Given the description of an element on the screen output the (x, y) to click on. 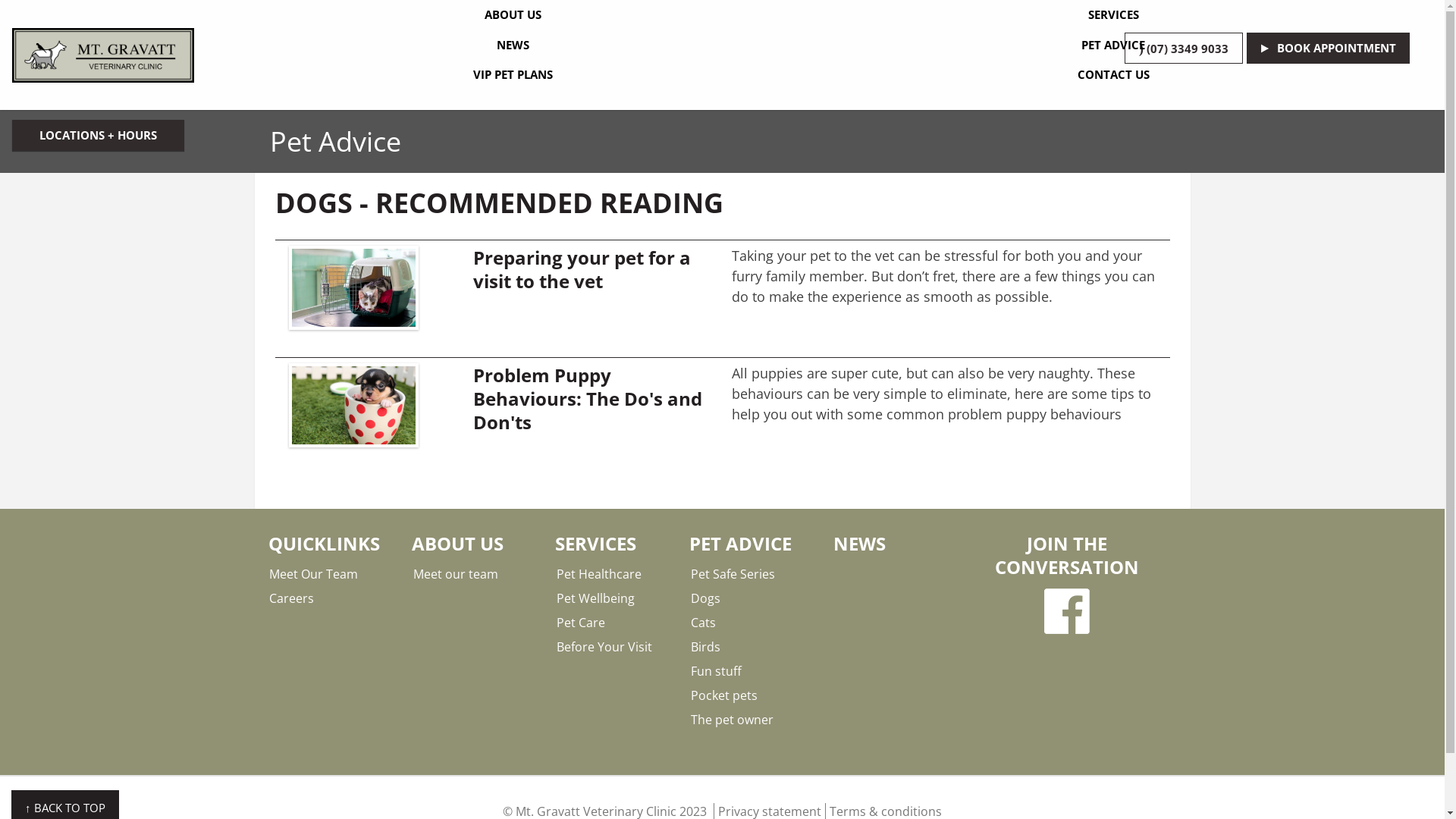
Cats Element type: text (751, 622)
SERVICES Element type: text (595, 542)
Before Your Visit Element type: text (617, 646)
Fun stuff Element type: text (751, 670)
CONTACT US Element type: text (1112, 74)
Pet Care Element type: text (617, 622)
Pet Advice Element type: text (335, 141)
Home Element type: hover (103, 55)
Pocket pets Element type: text (751, 695)
PET ADVICE Element type: text (740, 542)
VIP PET PLANS Element type: text (513, 74)
BOOK APPOINTMENT Element type: text (1327, 47)
SERVICES Element type: text (1112, 15)
Meet Our Team Element type: text (330, 573)
NEWS Element type: text (513, 45)
Pet Safe Series Element type: text (751, 573)
PET ADVICE Element type: text (1112, 45)
Meet our team Element type: text (474, 573)
Dogs Element type: text (751, 598)
ABOUT US Element type: text (457, 542)
The pet owner Element type: text (751, 719)
Birds Element type: text (751, 646)
  Element type: text (1066, 610)
Facebook Element type: hover (1066, 610)
NEWS Element type: text (859, 542)
ABOUT US Element type: text (513, 15)
Pet Healthcare Element type: text (617, 573)
(07) 3349 9033 Element type: text (1183, 47)
LOCATIONS + HOURS Element type: text (98, 134)
Pet Wellbeing Element type: text (617, 598)
Careers Element type: text (330, 598)
